Given the description of an element on the screen output the (x, y) to click on. 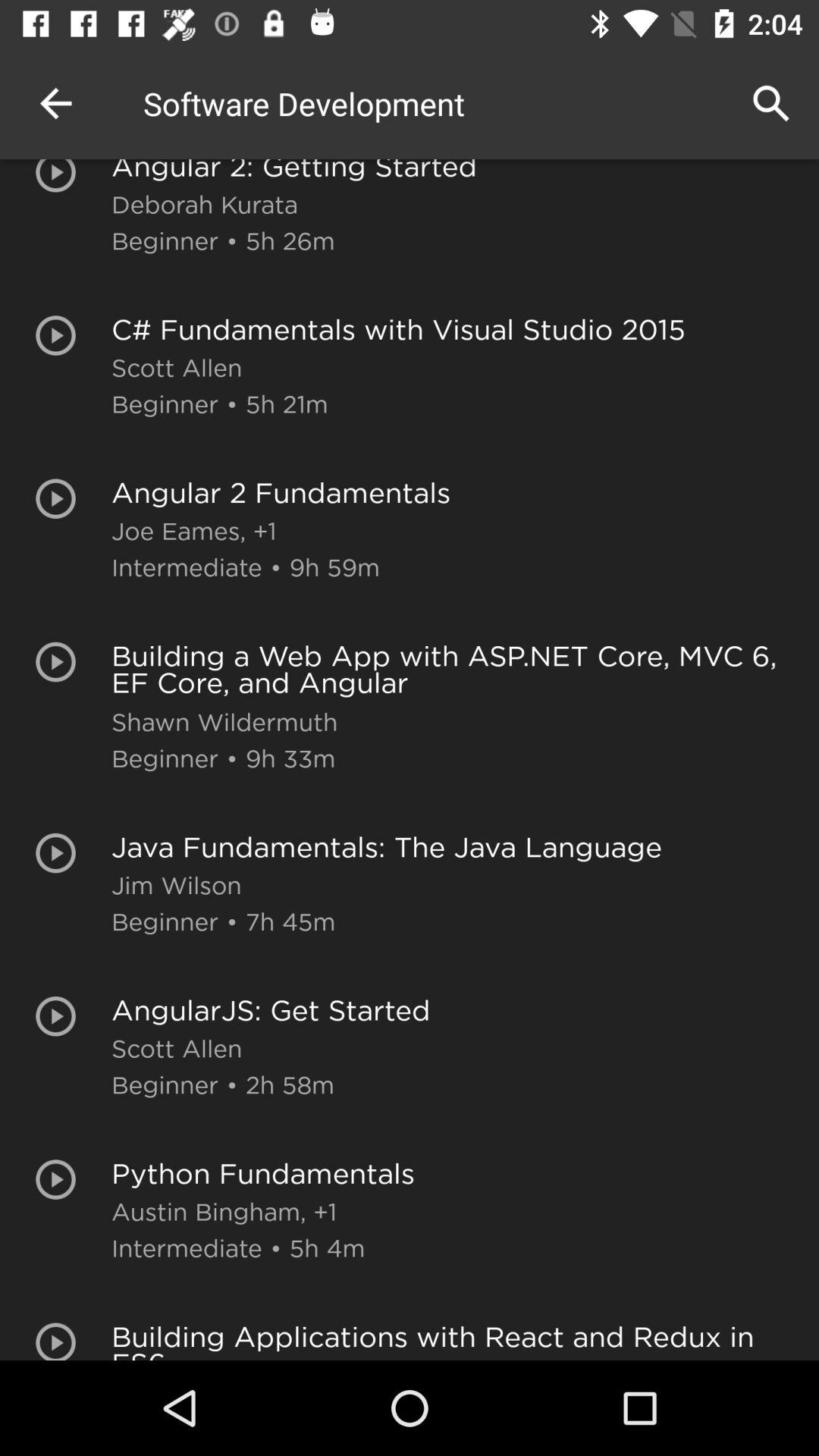
press the icon above angular 2 getting icon (771, 103)
